Given the description of an element on the screen output the (x, y) to click on. 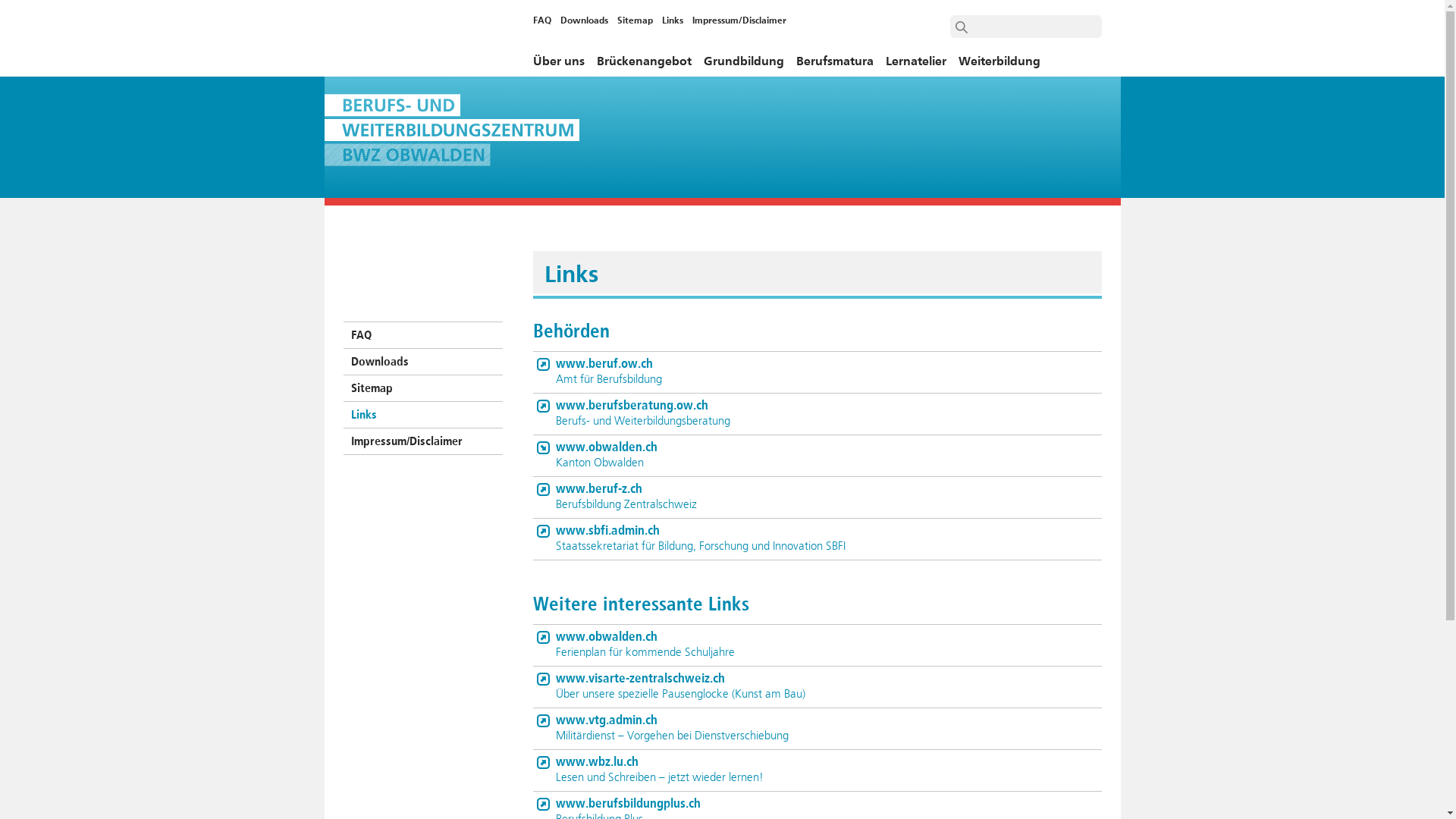
www.beruf-z.ch
Berufsbildung Zentralschweiz Element type: text (816, 496)
FAQ Element type: text (422, 335)
Sitemap Element type: text (422, 388)
FAQ Element type: text (543, 21)
Berufsmatura Element type: text (834, 65)
www.obwalden.ch
Kanton Obwalden Element type: text (816, 455)
Impressum/Disclaimer Element type: text (422, 441)
Links Element type: text (671, 21)
Downloads Element type: text (422, 361)
www.berufsberatung.ow.ch
Berufs- und Weiterbildungsberatung Element type: text (816, 413)
Downloads Element type: text (583, 21)
Links Element type: text (422, 414)
Grundbildung Element type: text (743, 65)
Sitemap Element type: text (634, 21)
Impressum/Disclaimer Element type: text (736, 21)
Lernatelier Element type: text (915, 65)
Weiterbildung Element type: text (999, 65)
